Given the description of an element on the screen output the (x, y) to click on. 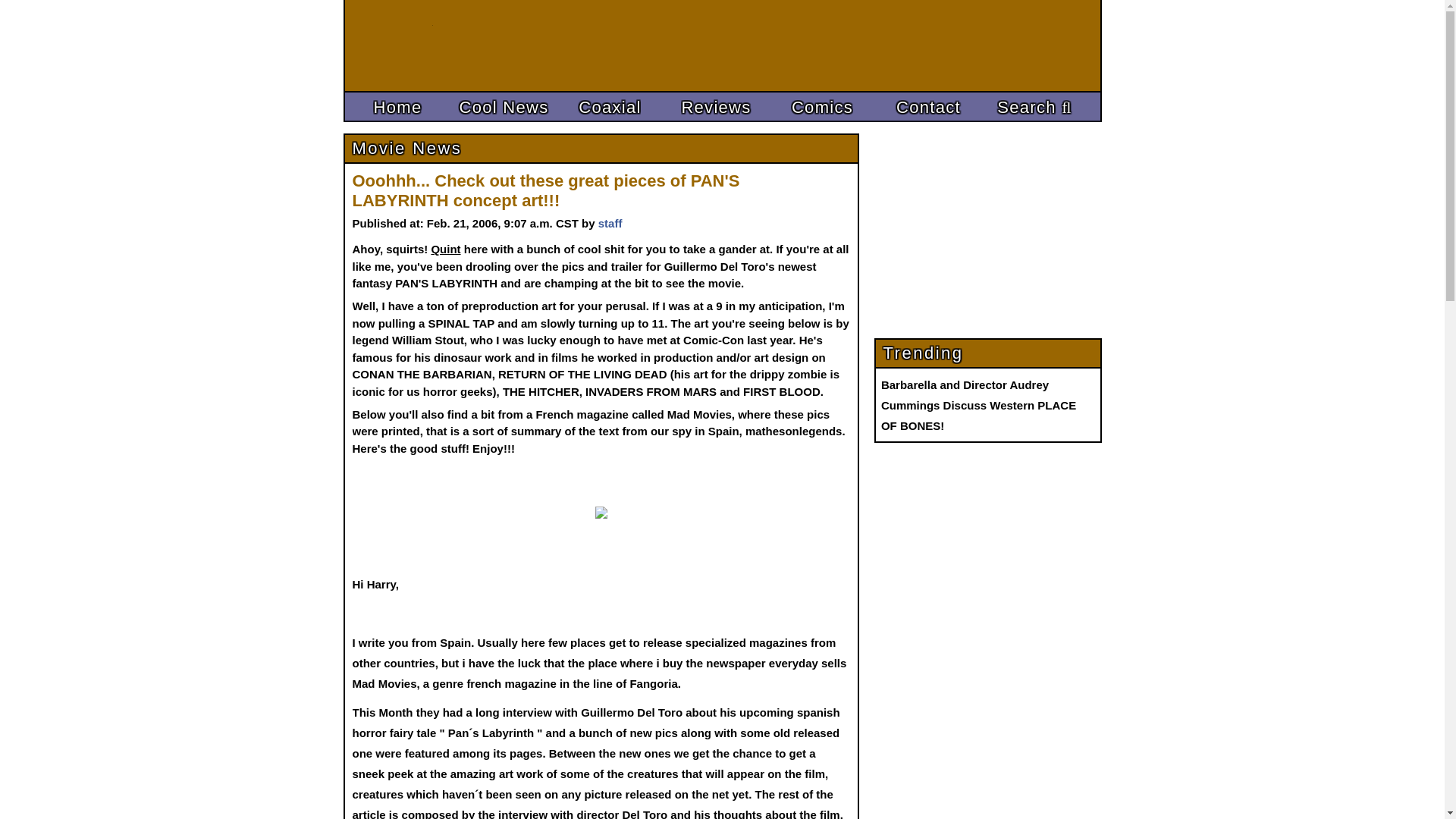
Quint (445, 248)
Reviews (715, 107)
Ain't It Cool News (395, 45)
Search (1034, 107)
Comics (821, 107)
staff (610, 223)
Contact (928, 107)
Coaxial (609, 107)
Home (396, 107)
